Given the description of an element on the screen output the (x, y) to click on. 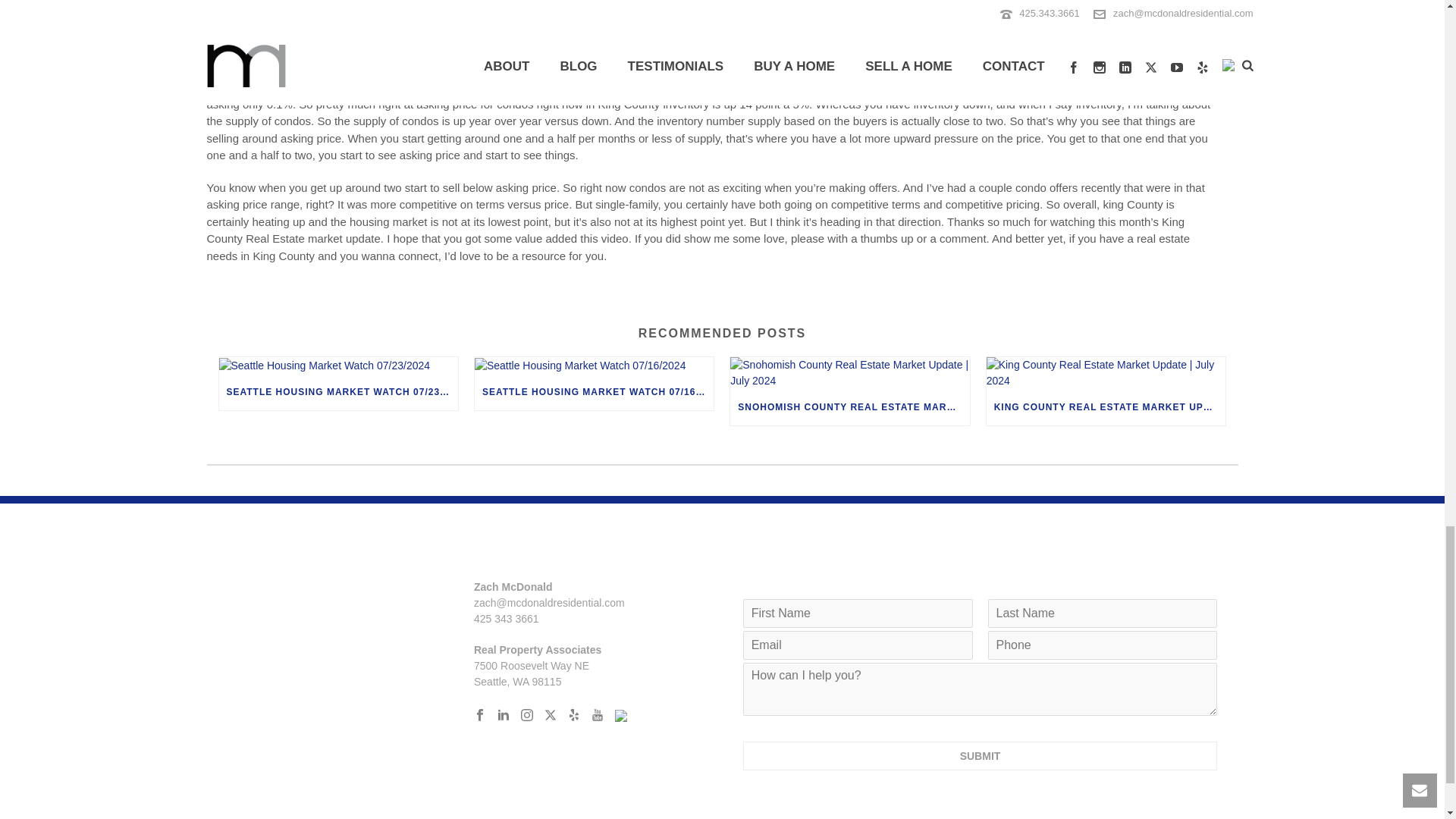
Follow Us on yelp (573, 715)
Follow Us on instagram (526, 715)
